Given the description of an element on the screen output the (x, y) to click on. 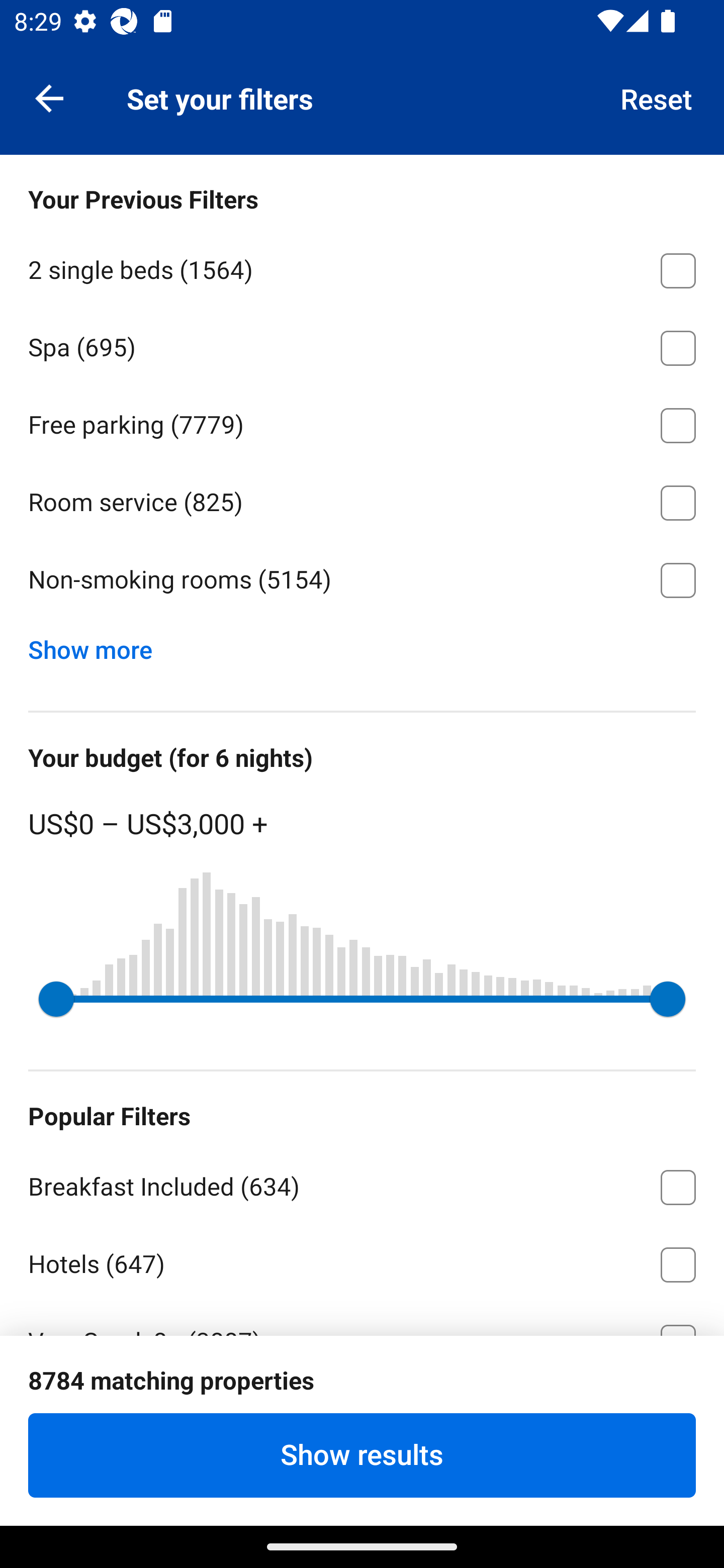
Navigate up (49, 97)
Reset (656, 97)
2 single beds ⁦(1564) (361, 266)
Spa ⁦(695) (361, 344)
Free parking ⁦(7779) (361, 422)
Room service ⁦(825) (361, 498)
Non-smoking rooms ⁦(5154) (361, 579)
Show more (97, 645)
0.0 Range start,US$0 3000.0 Range end,US$3,000 + (361, 998)
Breakfast Included ⁦(634) (361, 1183)
Hotels ⁦(647) (361, 1261)
Show results (361, 1454)
